Given the description of an element on the screen output the (x, y) to click on. 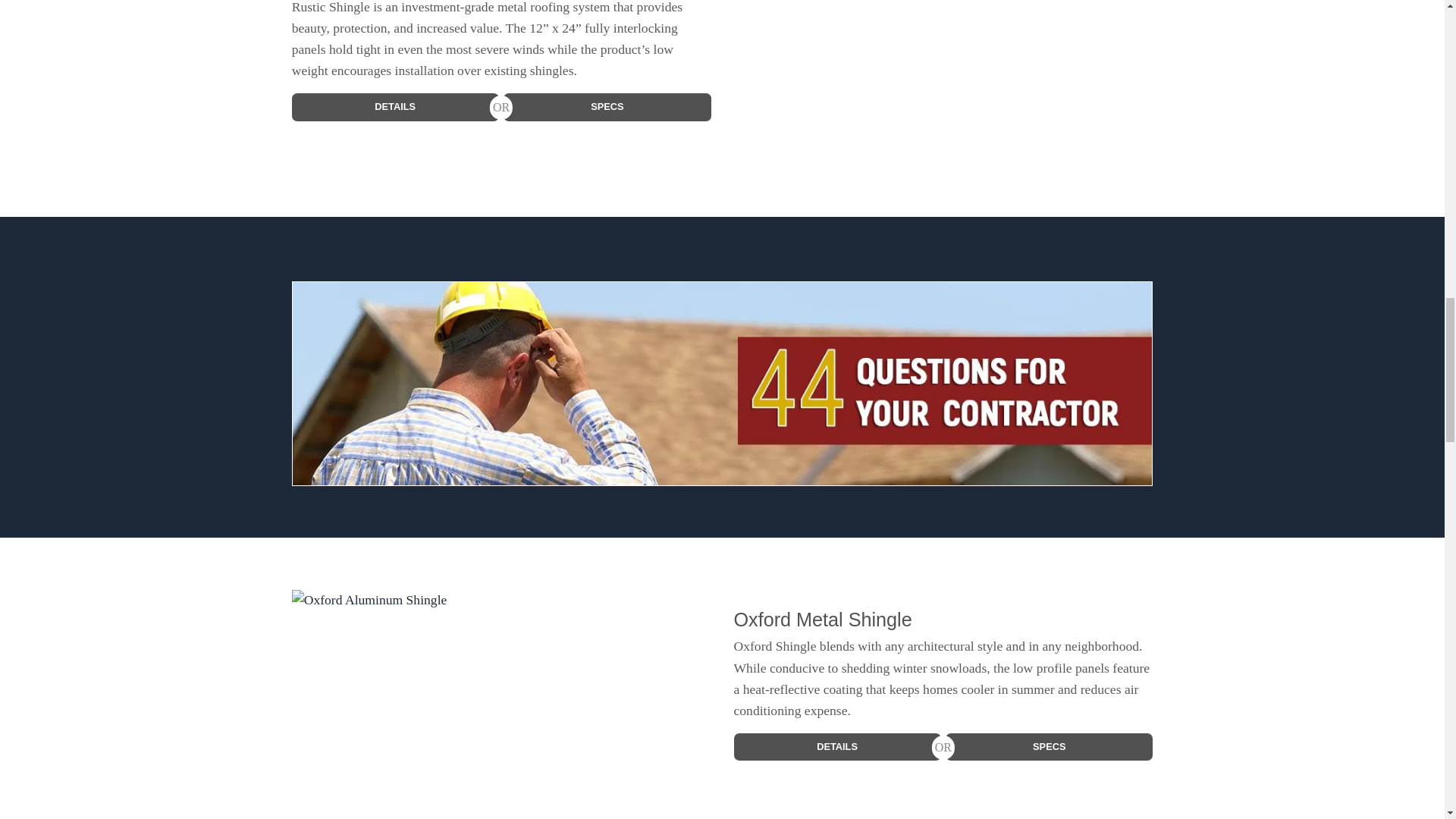
Find out the 44 questions to ask your roofing contractor (722, 381)
